Given the description of an element on the screen output the (x, y) to click on. 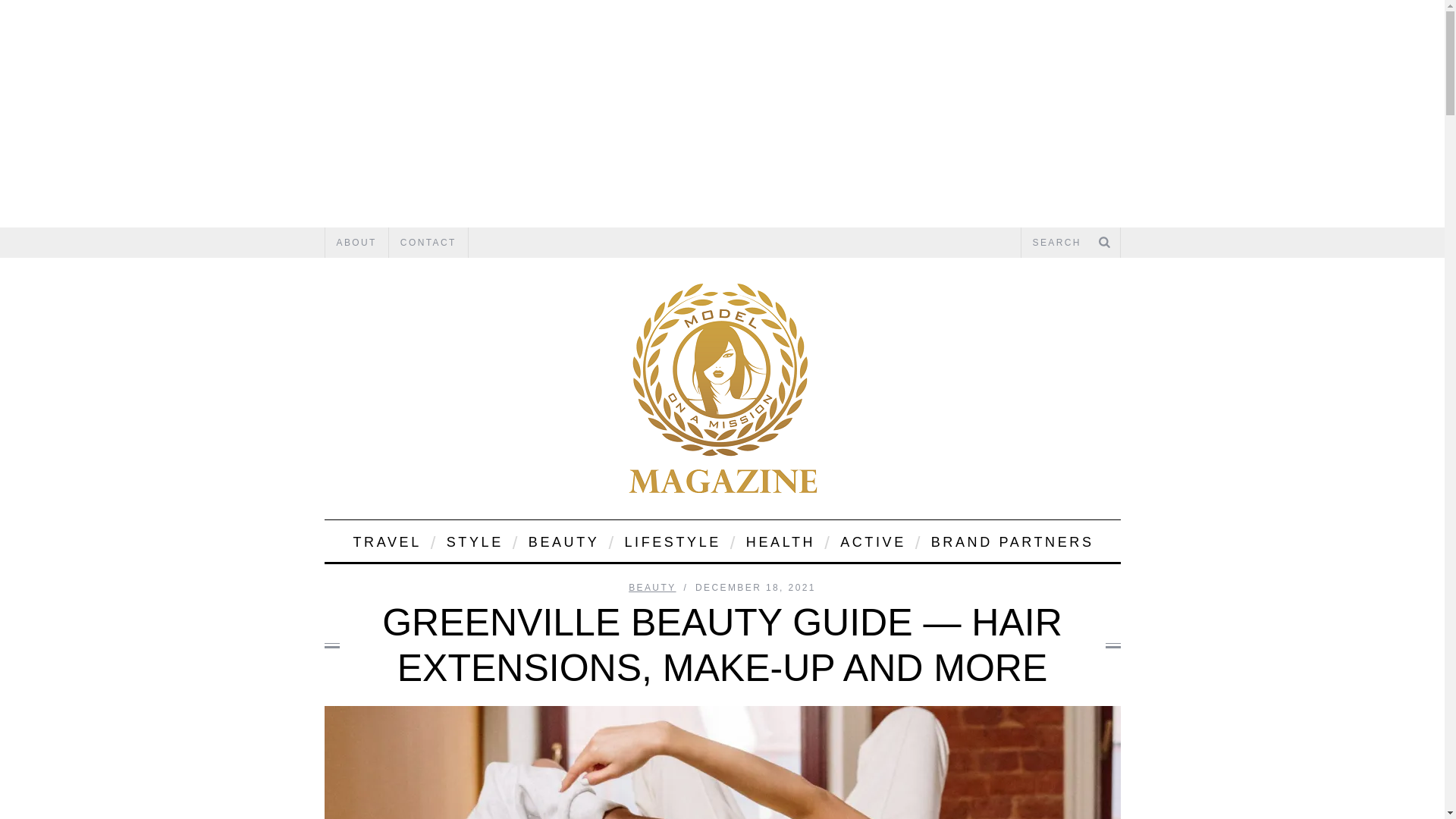
modelonamission  -  (721, 388)
Search (1070, 242)
